Given the description of an element on the screen output the (x, y) to click on. 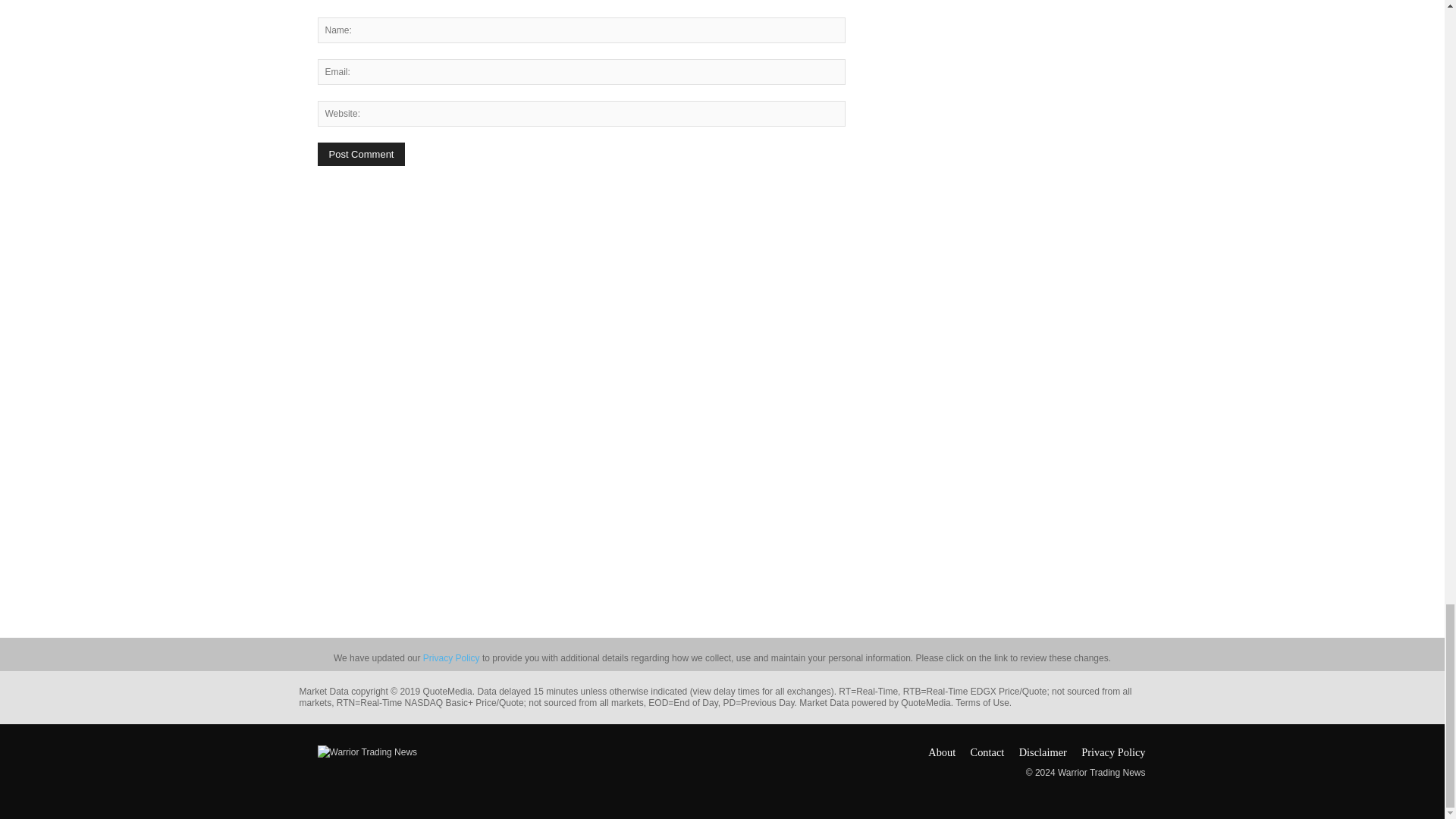
Post Comment (360, 154)
